Given the description of an element on the screen output the (x, y) to click on. 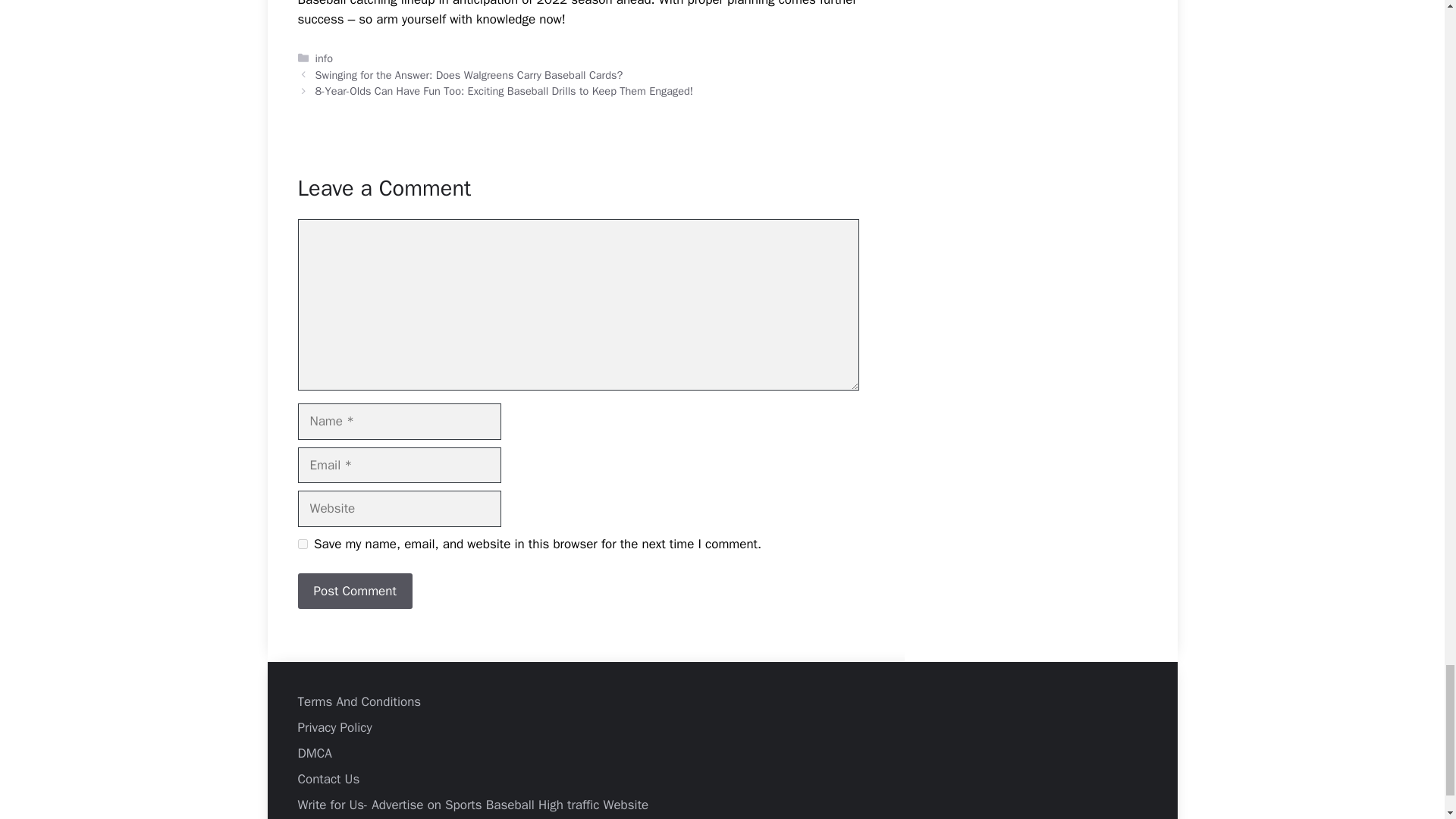
Post Comment (354, 591)
yes (302, 543)
Contact Us (328, 779)
Privacy Policy (334, 727)
DMCA (314, 753)
info (324, 58)
Terms And Conditions (358, 701)
Post Comment (354, 591)
